Given the description of an element on the screen output the (x, y) to click on. 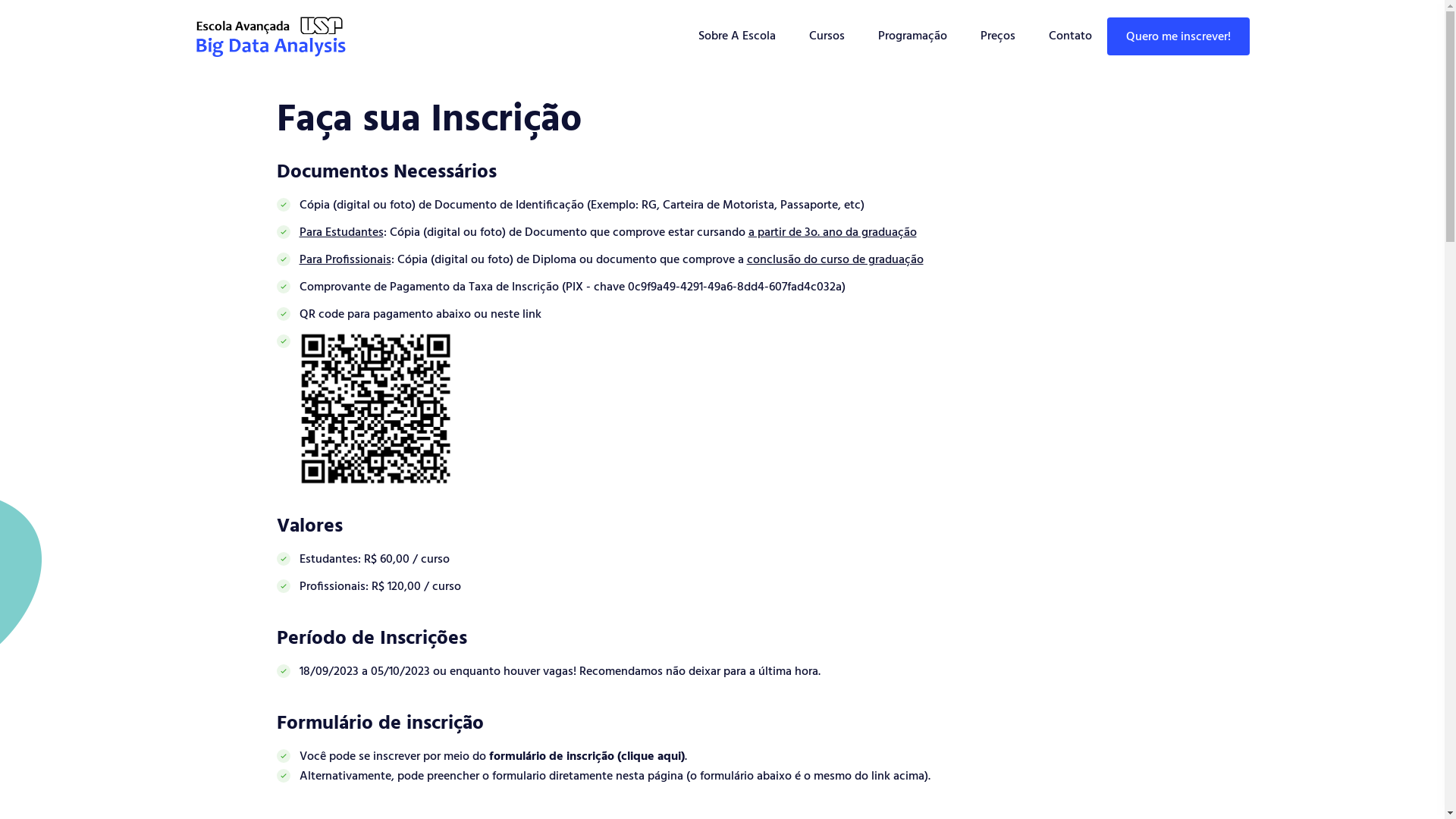
Cursos Element type: text (826, 36)
neste link Element type: text (514, 314)
Contato Element type: text (1070, 36)
Quero me inscrever! Element type: text (1178, 36)
Sobre A Escola Element type: text (736, 36)
